Given the description of an element on the screen output the (x, y) to click on. 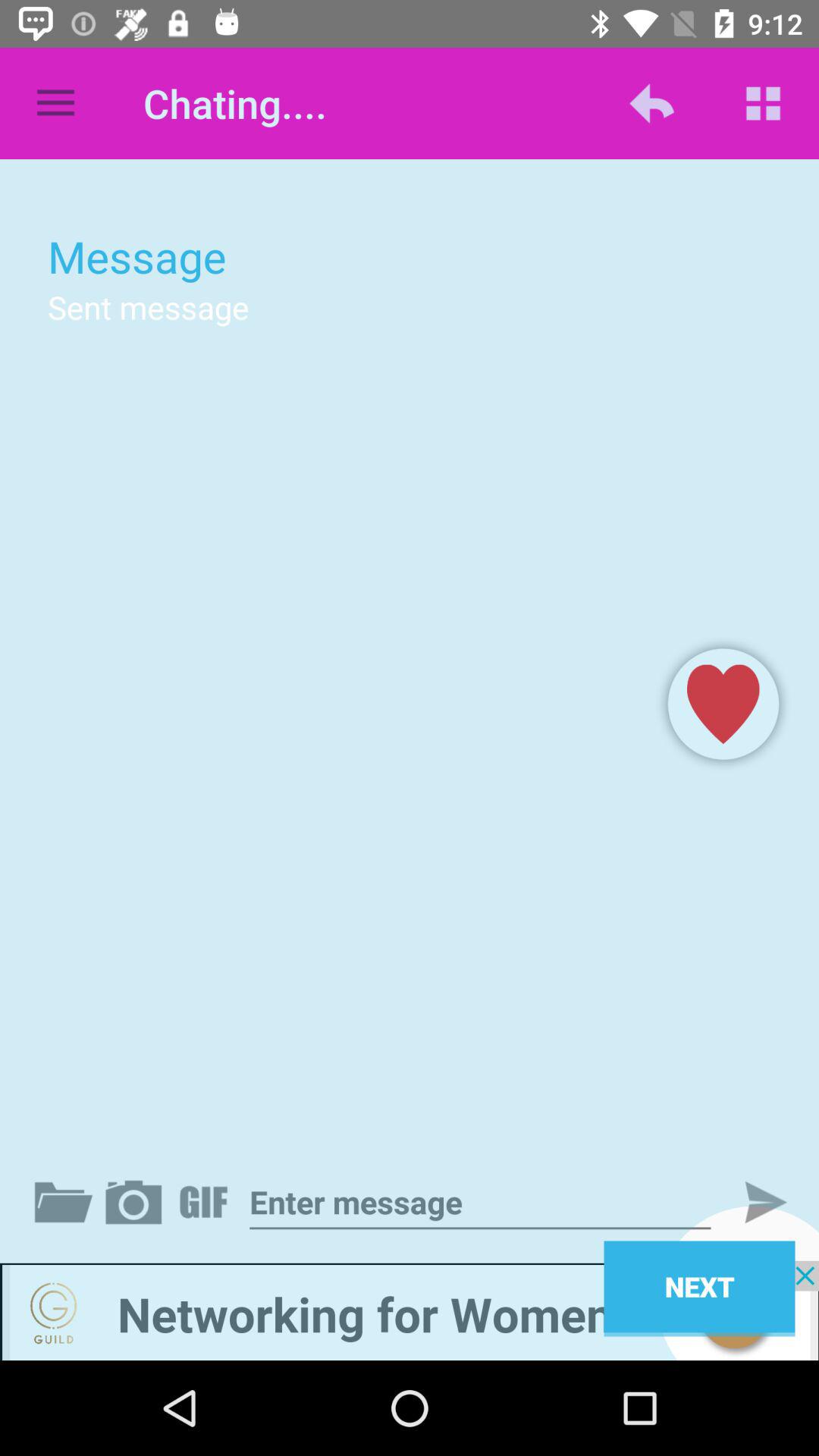
attach photo (136, 1202)
